Given the description of an element on the screen output the (x, y) to click on. 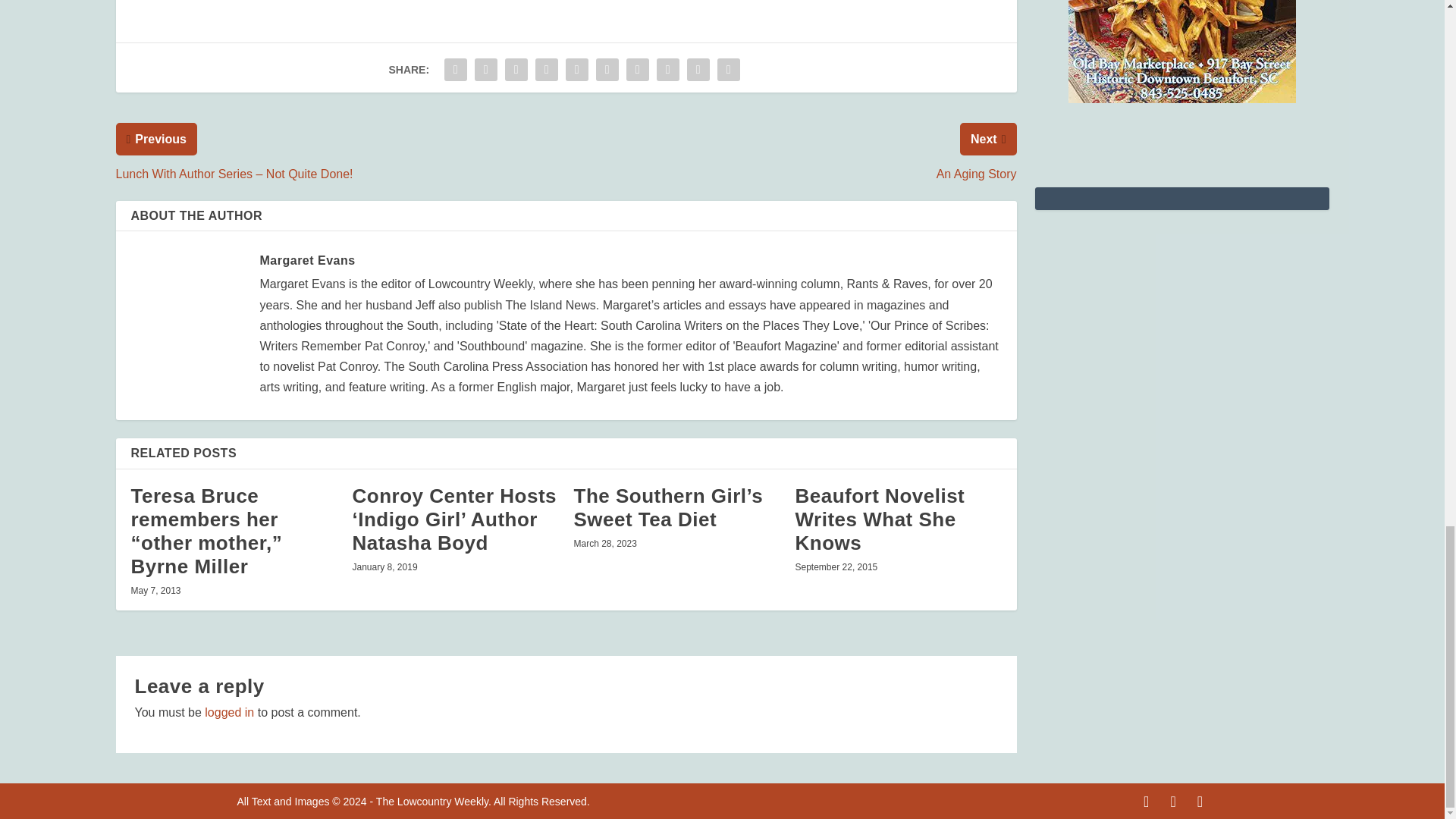
View all posts by Margaret Evans (307, 259)
